Given the description of an element on the screen output the (x, y) to click on. 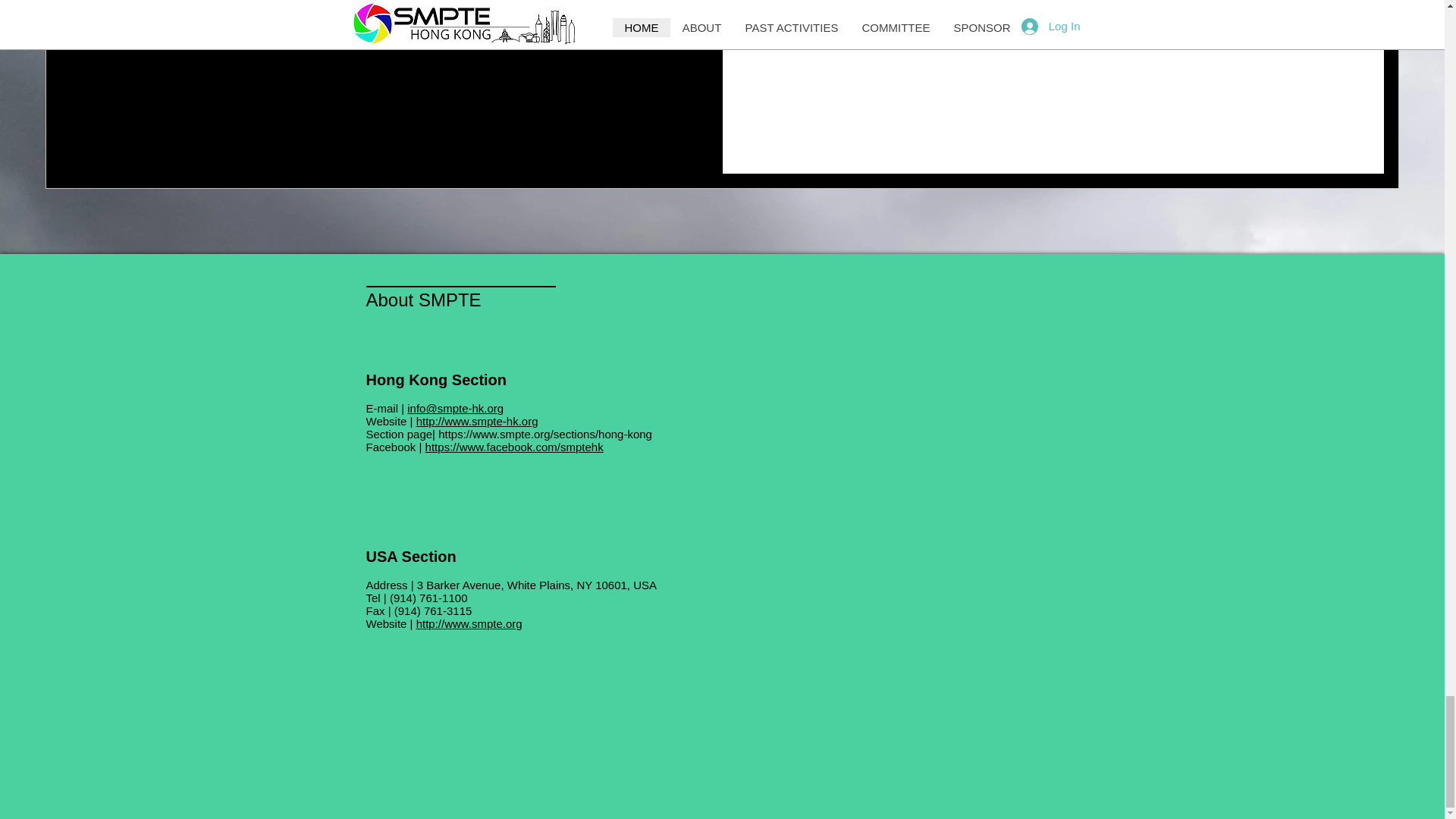
READ MORE (945, 26)
